Given the description of an element on the screen output the (x, y) to click on. 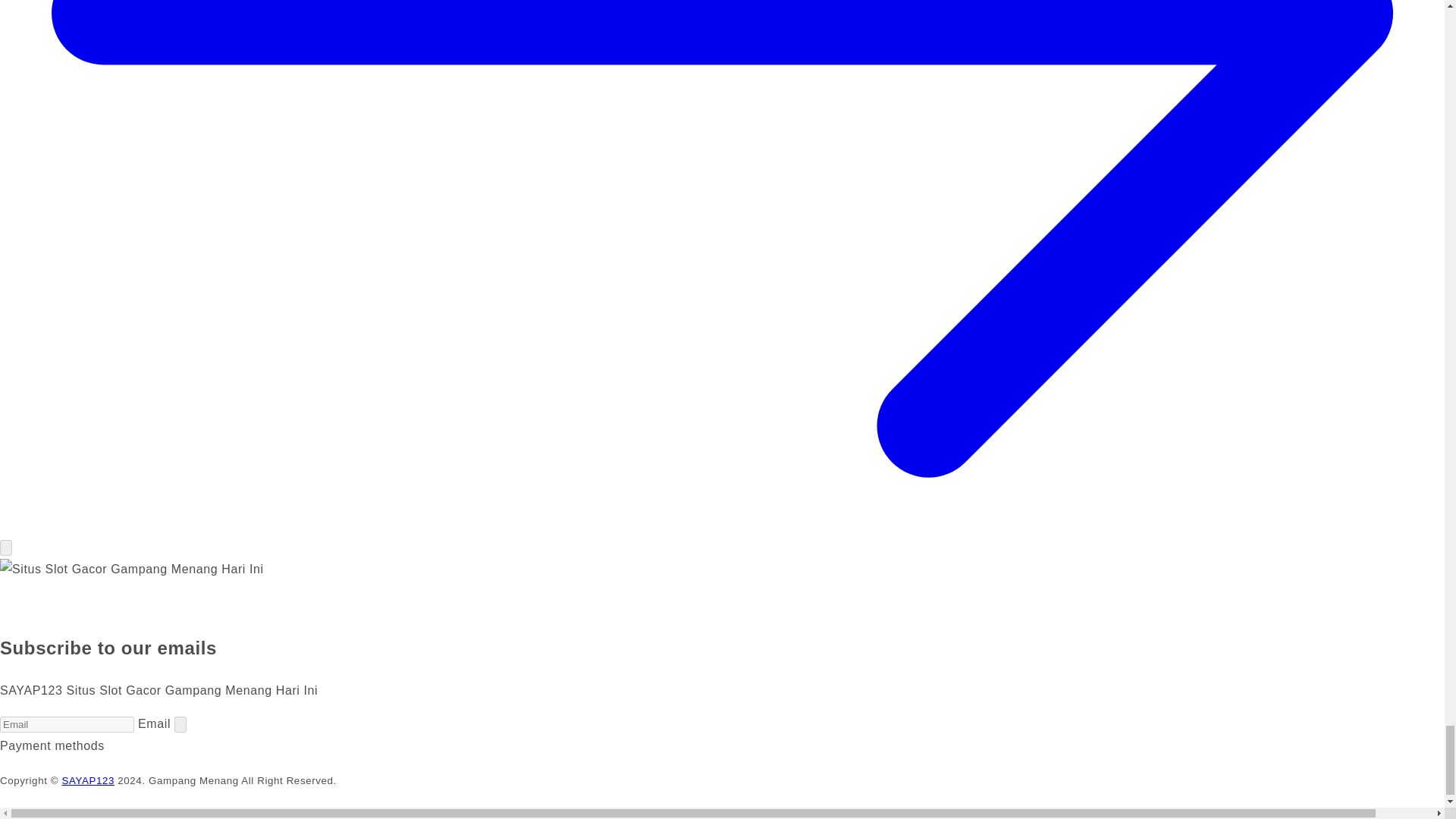
SAYAP123 (88, 780)
